Given the description of an element on the screen output the (x, y) to click on. 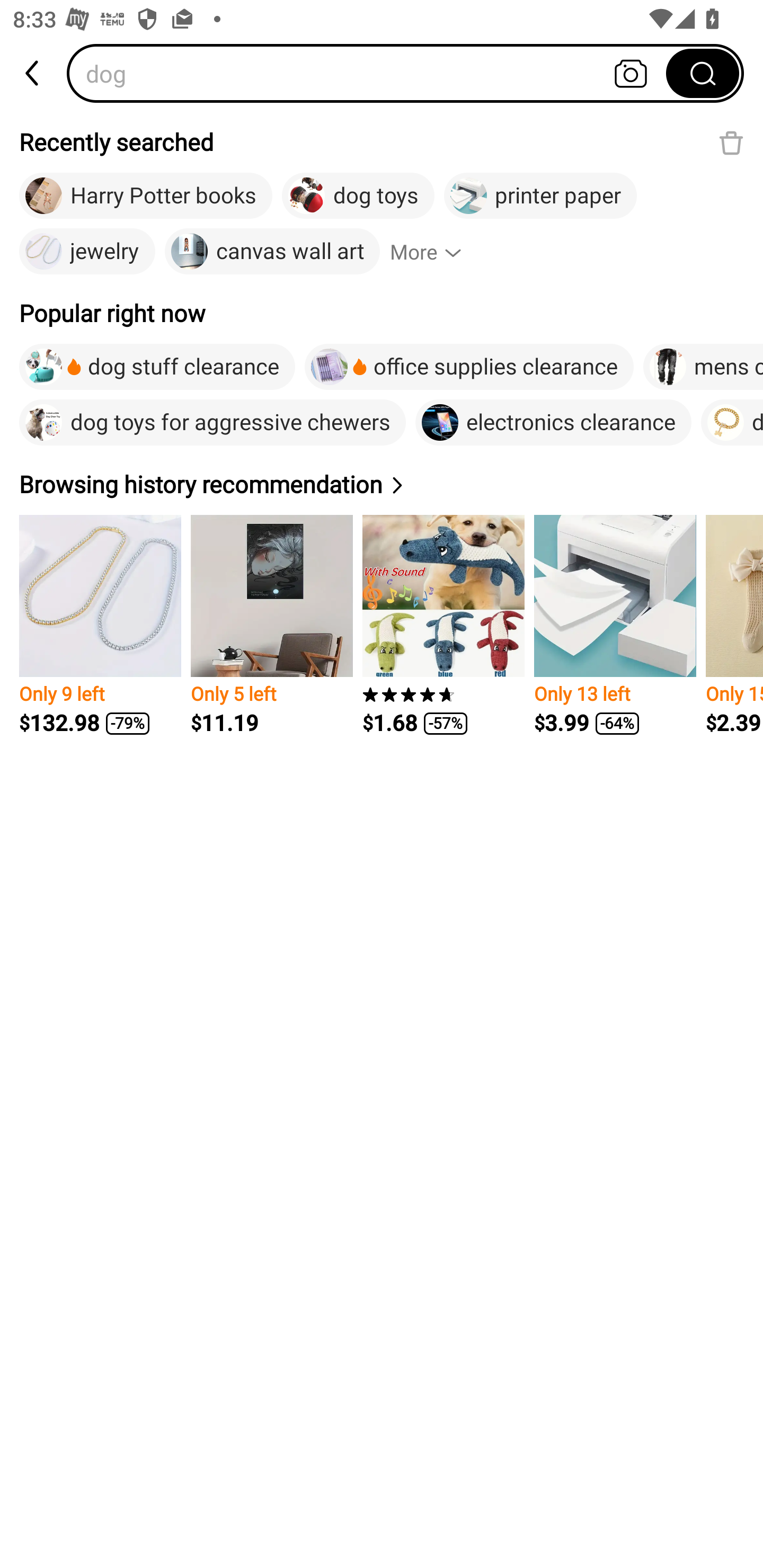
back (33, 72)
dog (372, 73)
Search by photo (630, 73)
Delete recent search (731, 142)
Harry Potter books (145, 195)
dog toys (357, 195)
printer paper (540, 195)
jewelry (86, 251)
canvas wall art (271, 251)
More (433, 251)
dog stuff clearance (157, 366)
office supplies clearance (469, 366)
mens clothing (703, 366)
dog toys for aggressive chewers (212, 422)
electronics clearance (553, 422)
Browsing history recommendation (213, 484)
Only 9 left $132.98 -79% (100, 625)
Only 5 left $11.19 (271, 625)
$1.68 -57% (443, 625)
Only 13 left $3.99 -64% (614, 625)
